Given the description of an element on the screen output the (x, y) to click on. 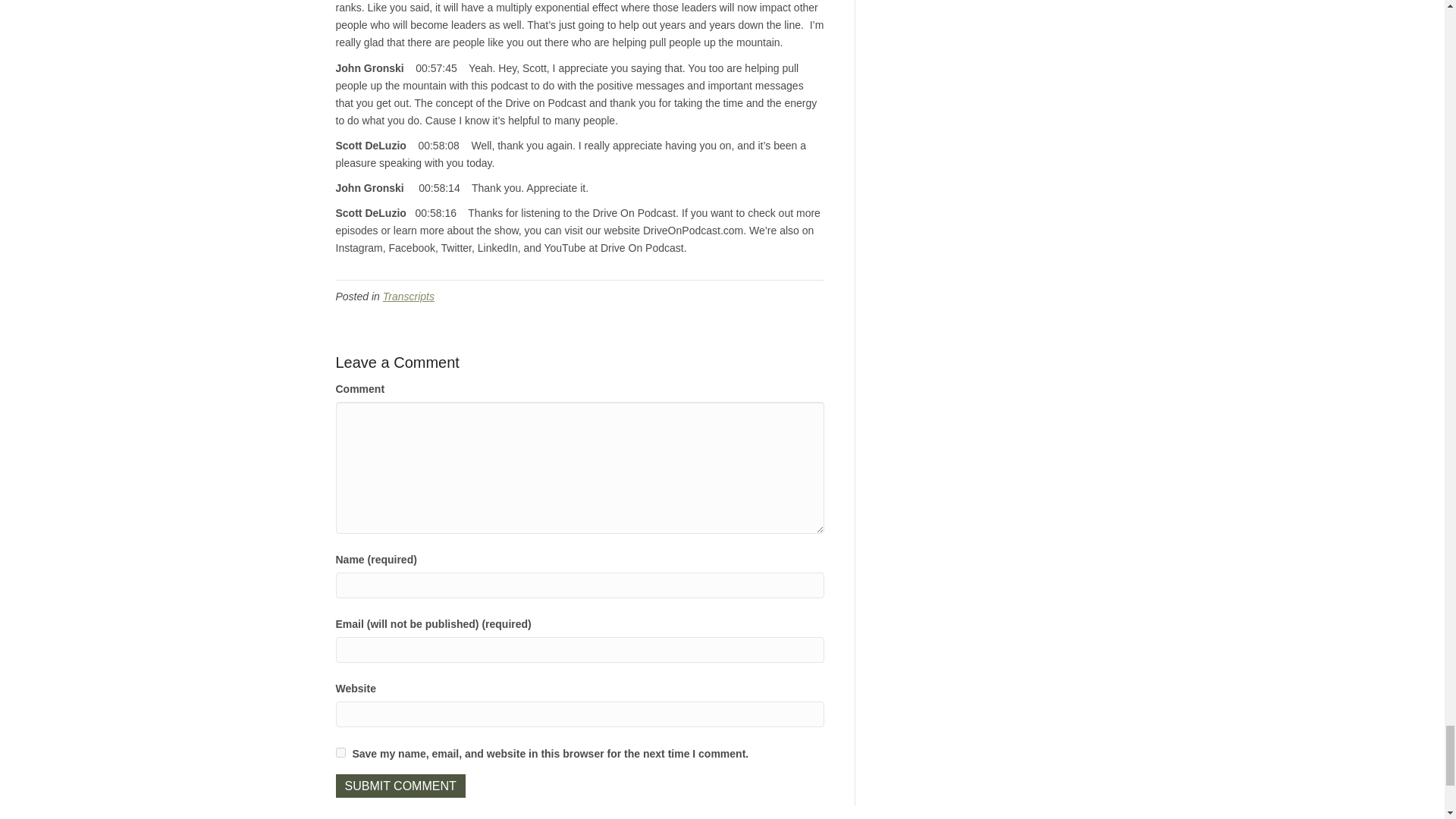
Transcripts (407, 296)
yes (339, 752)
Submit Comment (399, 785)
